Given the description of an element on the screen output the (x, y) to click on. 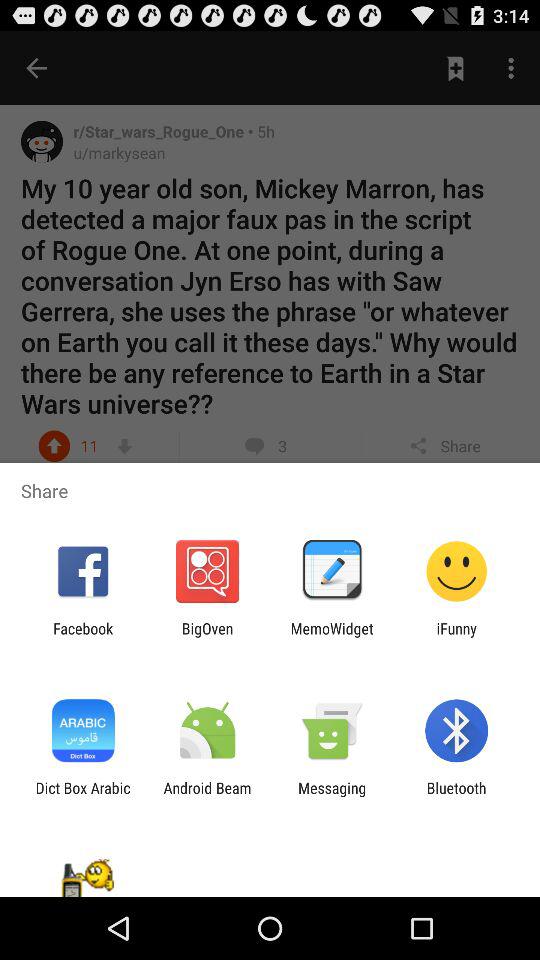
select icon to the left of the bluetooth (332, 796)
